Given the description of an element on the screen output the (x, y) to click on. 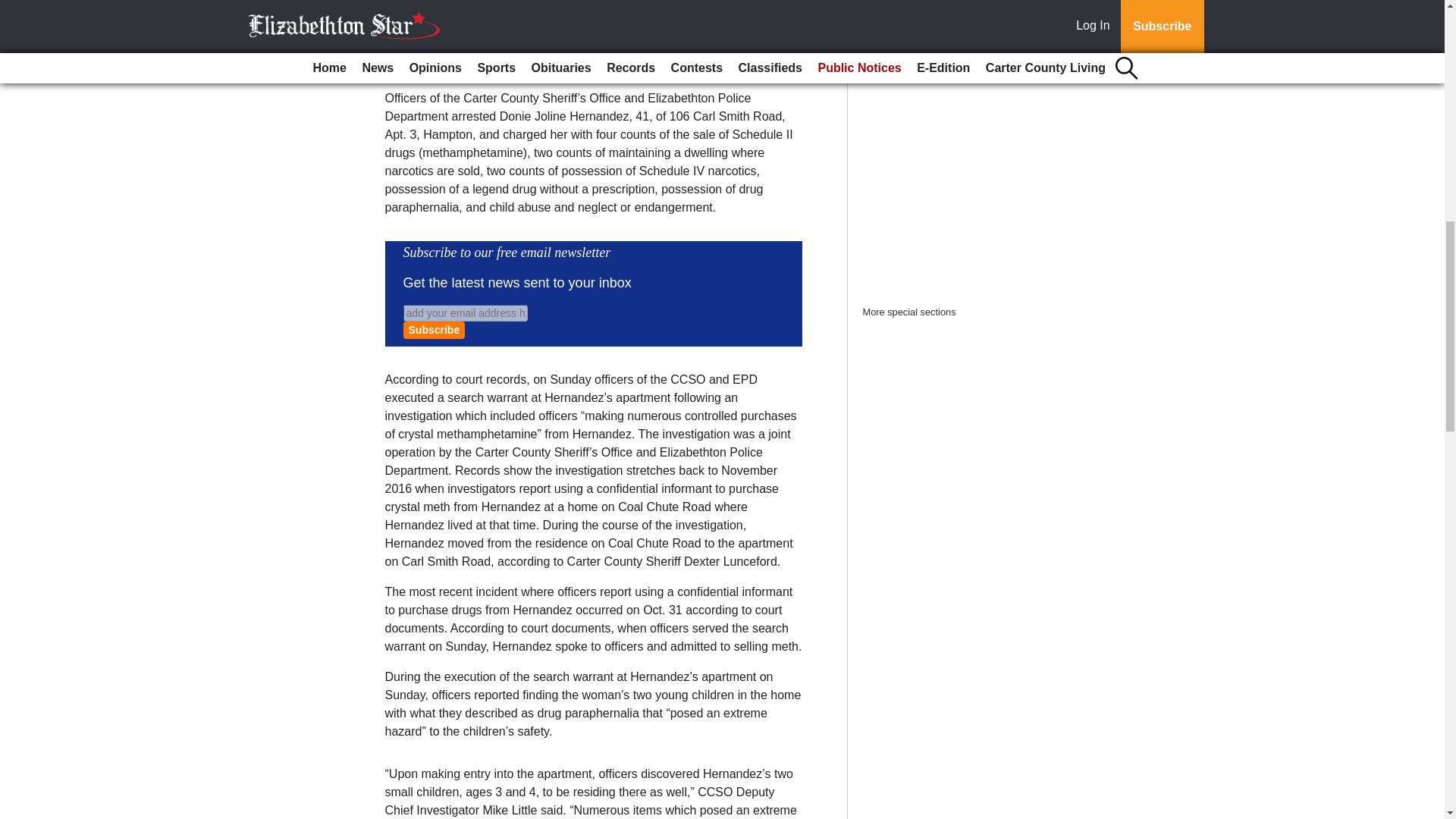
Subscribe (434, 330)
Subscribe (434, 330)
More special sections (909, 311)
